Given the description of an element on the screen output the (x, y) to click on. 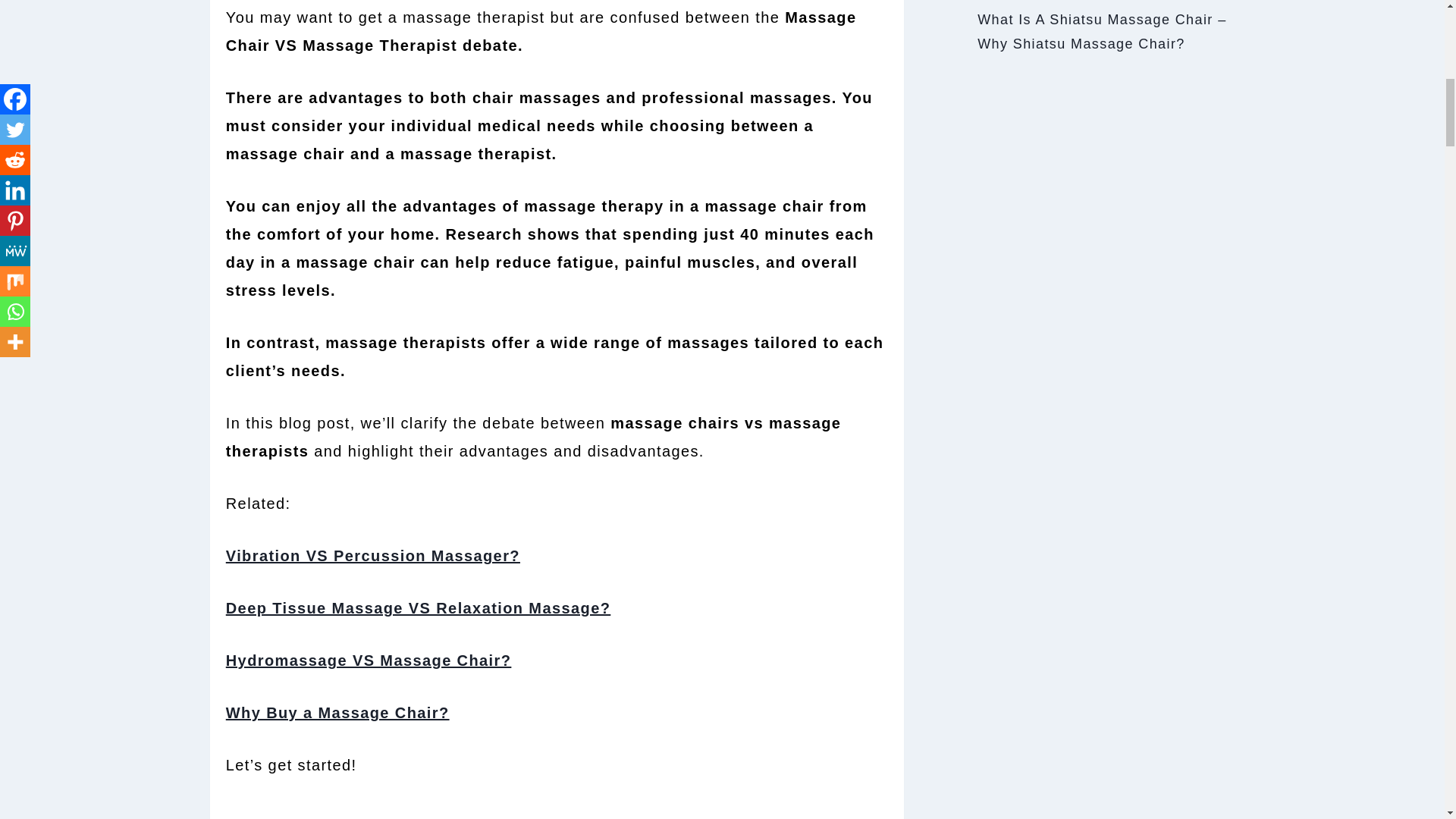
Vibration VS Percussion Massager? (372, 555)
Deep Tissue Massage VS Relaxation Massage? (418, 607)
Hydromassage VS Massage Chair? (368, 660)
Why Buy a Massage Chair? (337, 712)
